Given the description of an element on the screen output the (x, y) to click on. 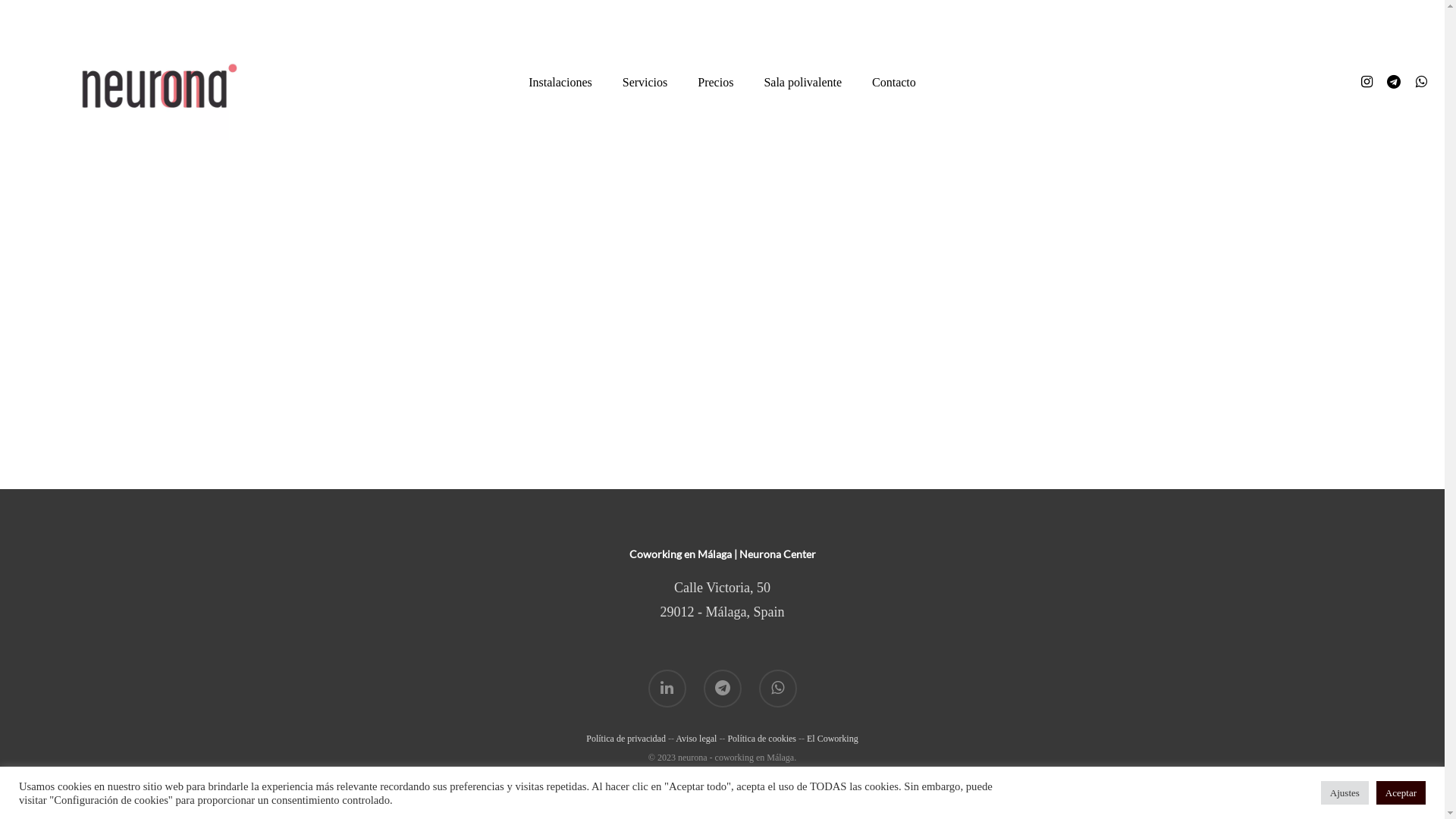
Contacto Element type: text (894, 82)
Ajustes Element type: text (1344, 792)
Aviso legal Element type: text (695, 738)
Aceptar Element type: text (1400, 792)
Servicios Element type: text (645, 82)
Sala polivalente Element type: text (802, 82)
Precios Element type: text (715, 82)
Instalaciones Element type: text (560, 82)
El Coworking Element type: text (832, 738)
